Given the description of an element on the screen output the (x, y) to click on. 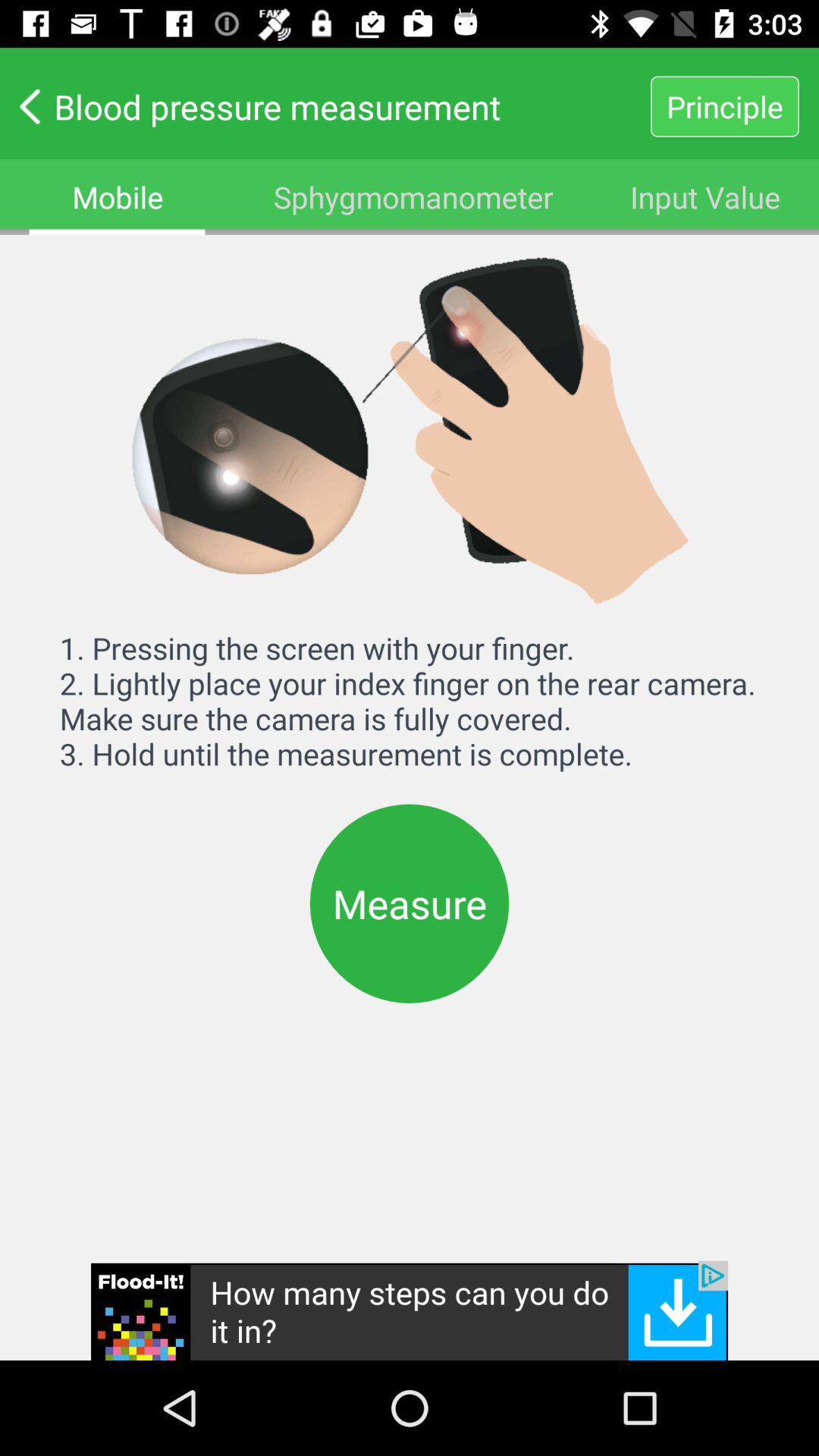
show advertisement (409, 1310)
